Given the description of an element on the screen output the (x, y) to click on. 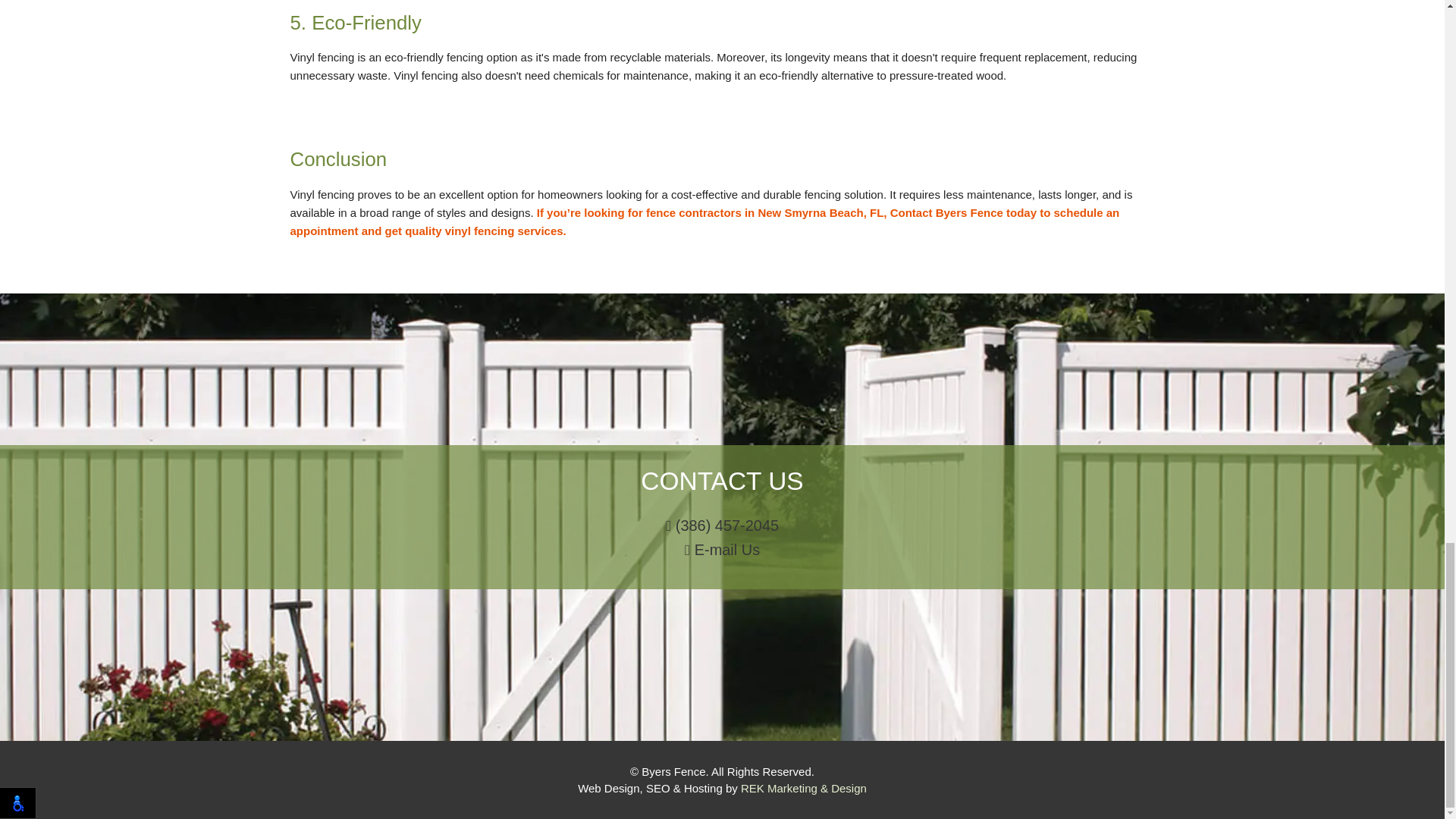
E-mail Us (721, 550)
